Given the description of an element on the screen output the (x, y) to click on. 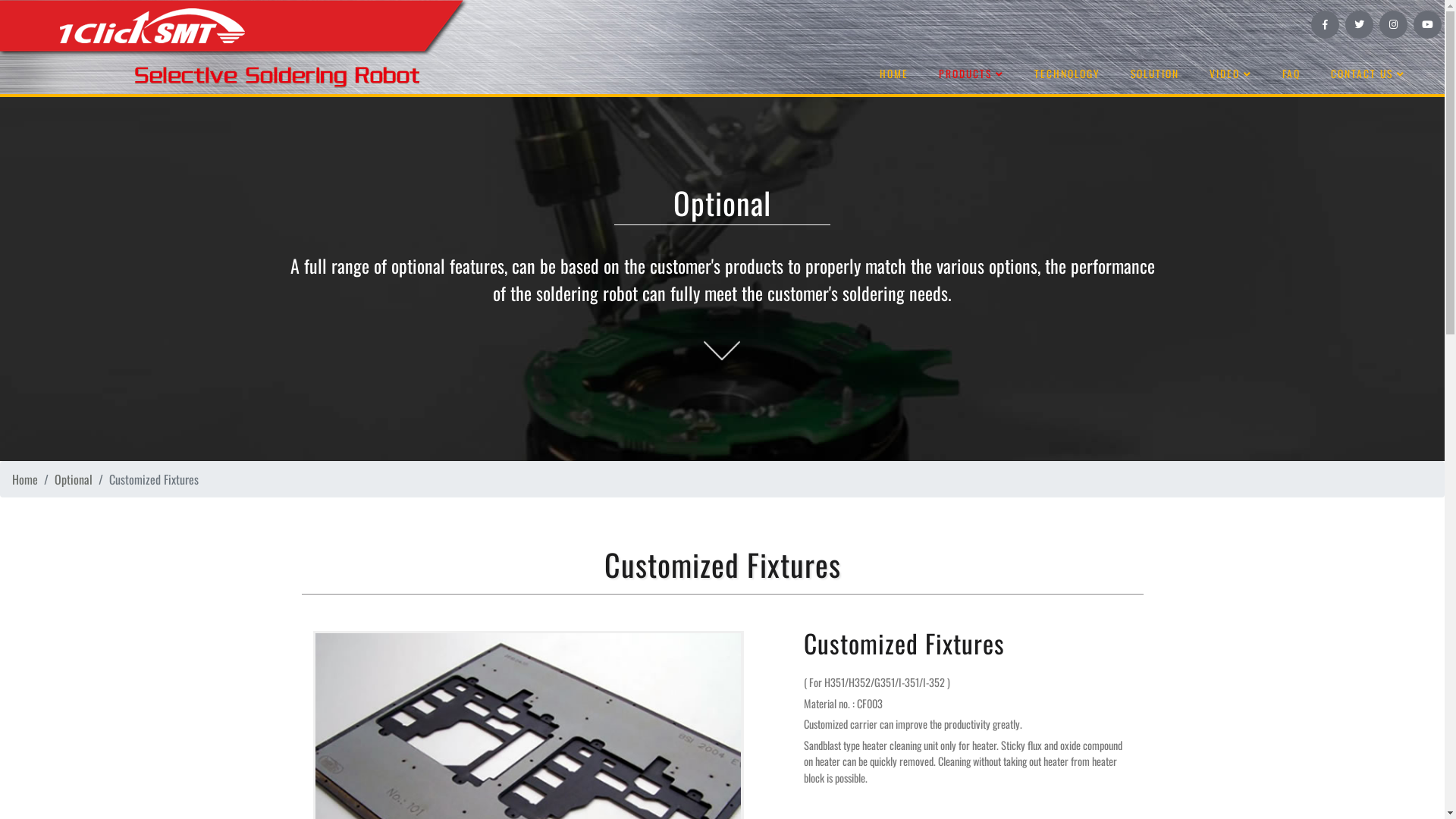
FAQ Element type: text (1290, 73)
TECHNOLOGY Element type: text (1066, 73)
Home Element type: text (24, 479)
VIDEO Element type: text (1230, 73)
CONTACT US Element type: text (1367, 73)
HOME Element type: text (893, 73)
SOLUTION Element type: text (1154, 73)
PRODUCTS Element type: text (971, 73)
Optional Element type: text (73, 479)
